Given the description of an element on the screen output the (x, y) to click on. 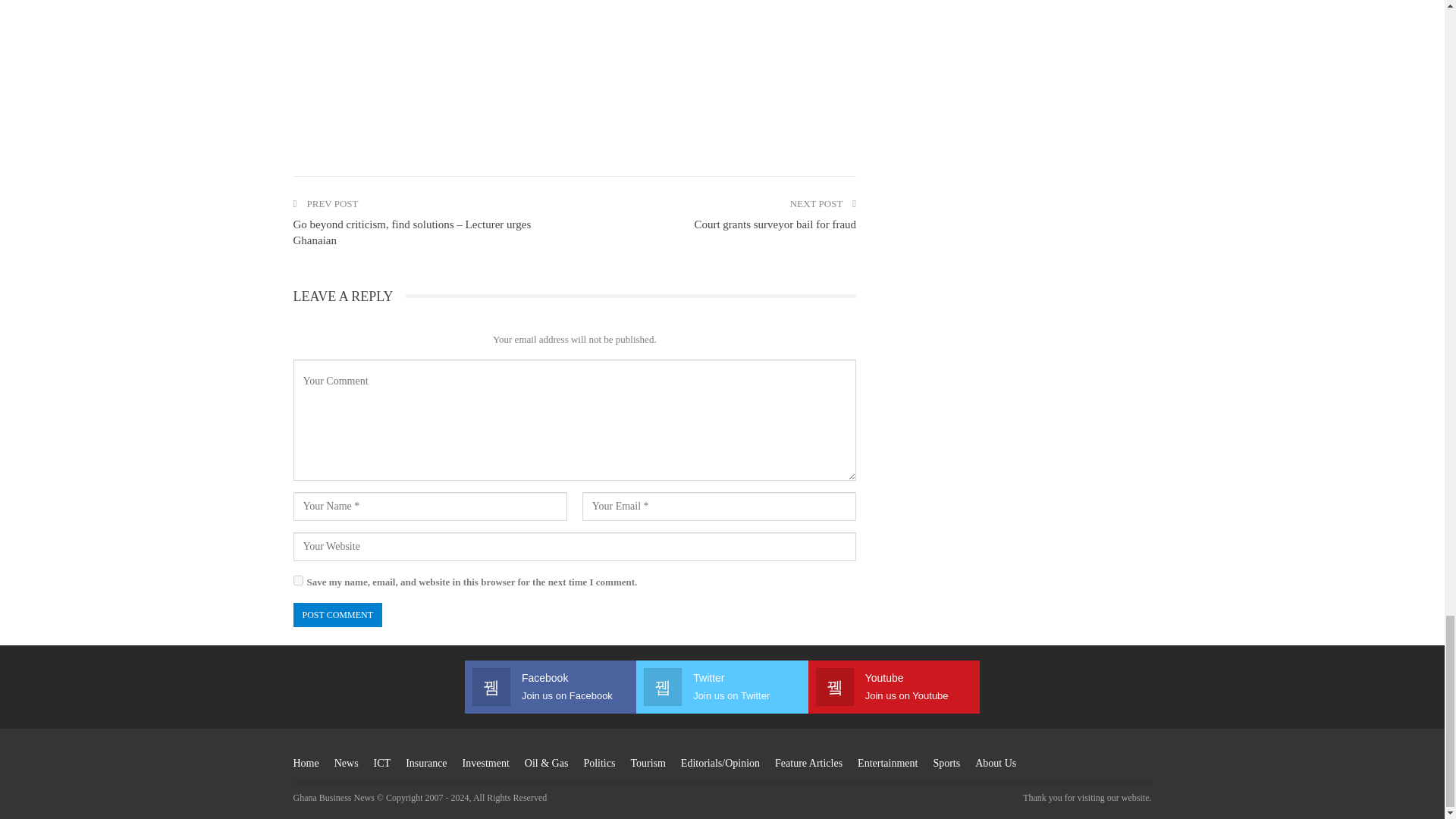
yes (297, 580)
Post Comment (336, 615)
Court grants surveyor bail for fraud (775, 224)
Post Comment (336, 615)
